Given the description of an element on the screen output the (x, y) to click on. 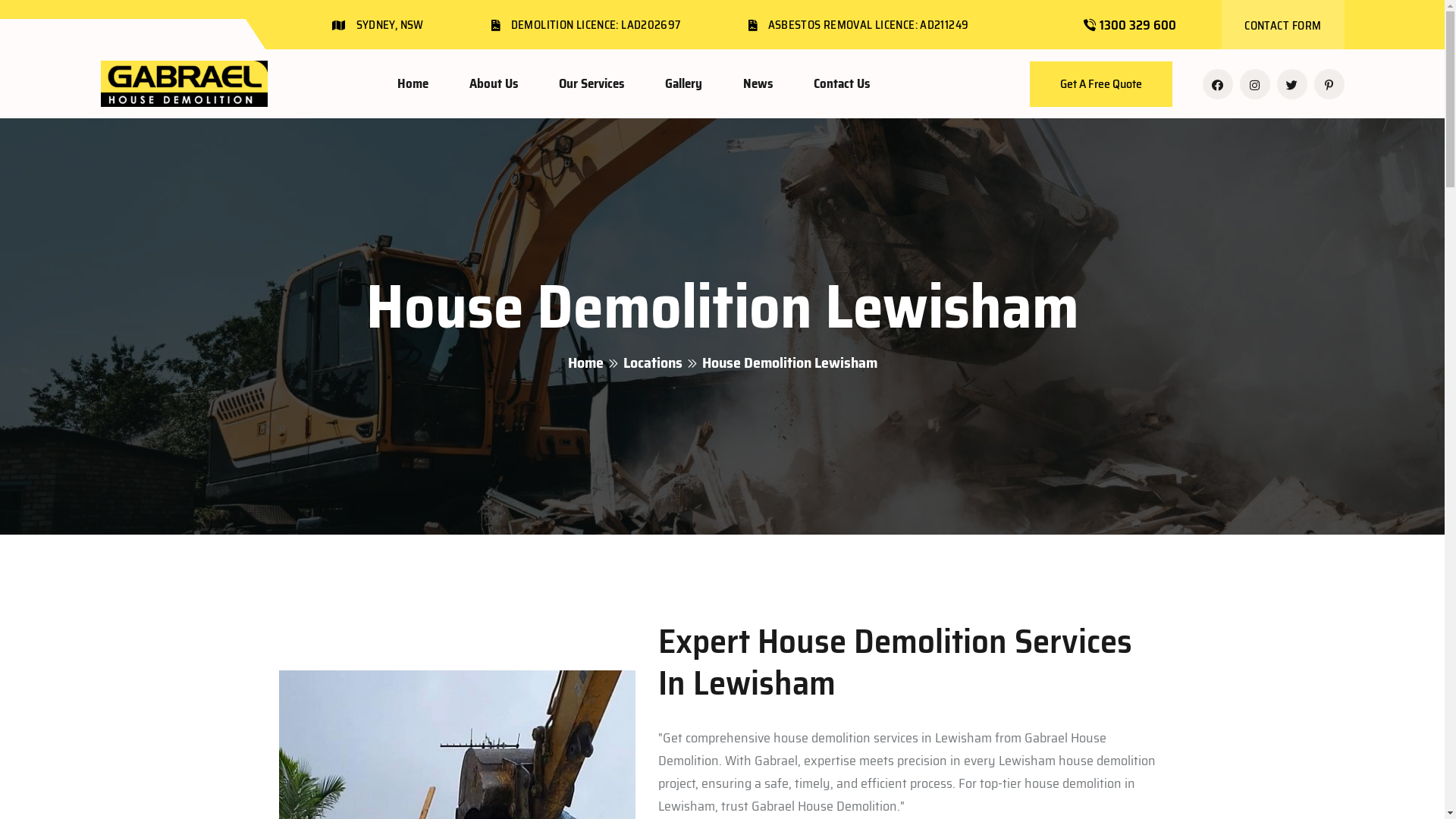
Gallery Element type: text (682, 83)
About Us Element type: text (492, 83)
CONTACT FORM Element type: text (1282, 25)
Get A Free Quote Element type: text (1100, 83)
Home Element type: text (412, 83)
News Element type: text (757, 83)
1300 329 600 Element type: text (1137, 24)
Home Element type: text (584, 362)
Our Services Element type: text (590, 83)
Gabrael House Demolition Logo Element type: hover (183, 83)
Locations Element type: text (652, 362)
Contact Us Element type: text (840, 83)
